Given the description of an element on the screen output the (x, y) to click on. 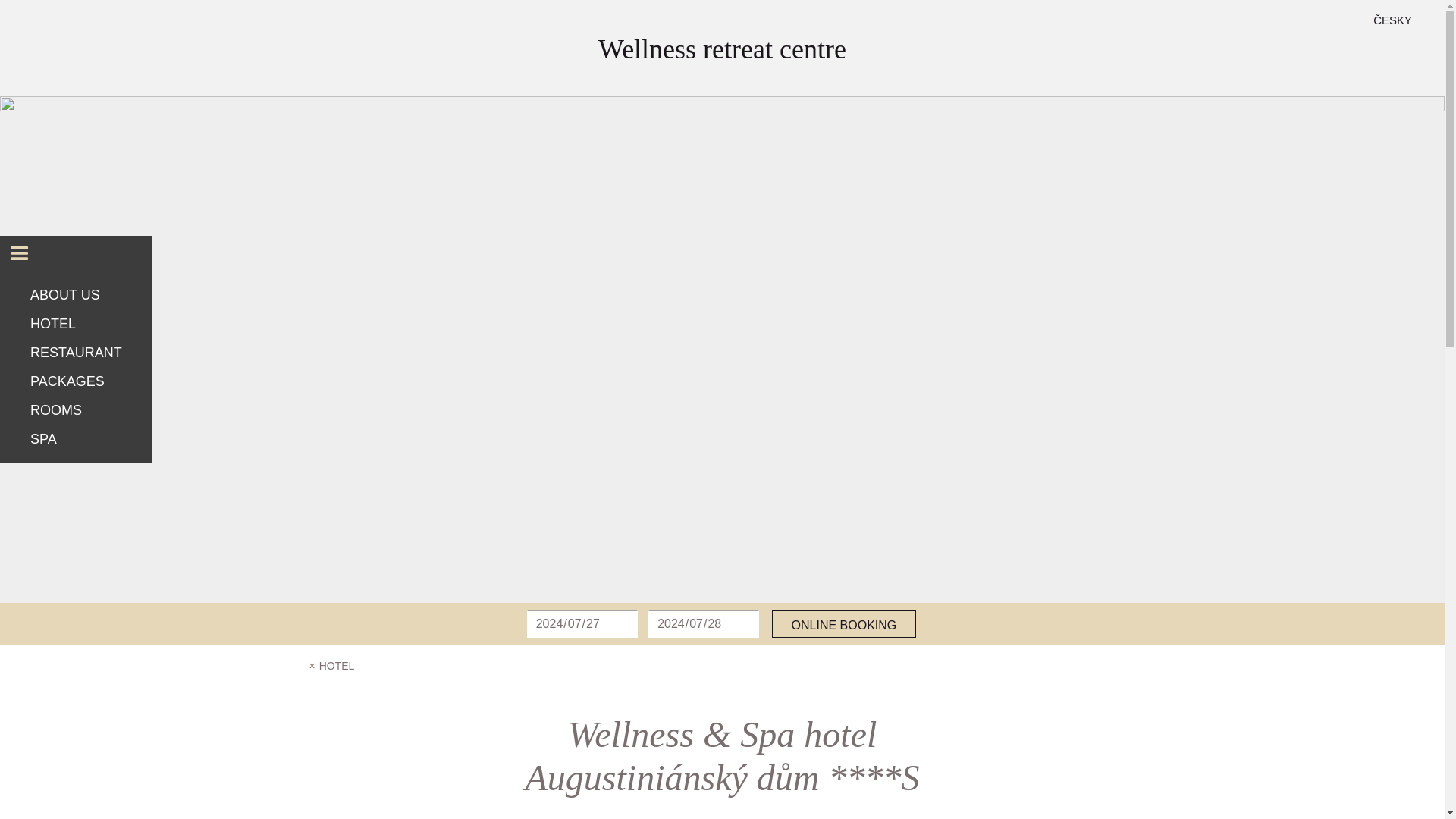
HOTEL (75, 323)
ROOMS (75, 410)
ABOUT US (75, 294)
2024-07-28 (702, 624)
2024-07-27 (582, 624)
PACKAGES (75, 380)
RESTAURANT (75, 352)
